Given the description of an element on the screen output the (x, y) to click on. 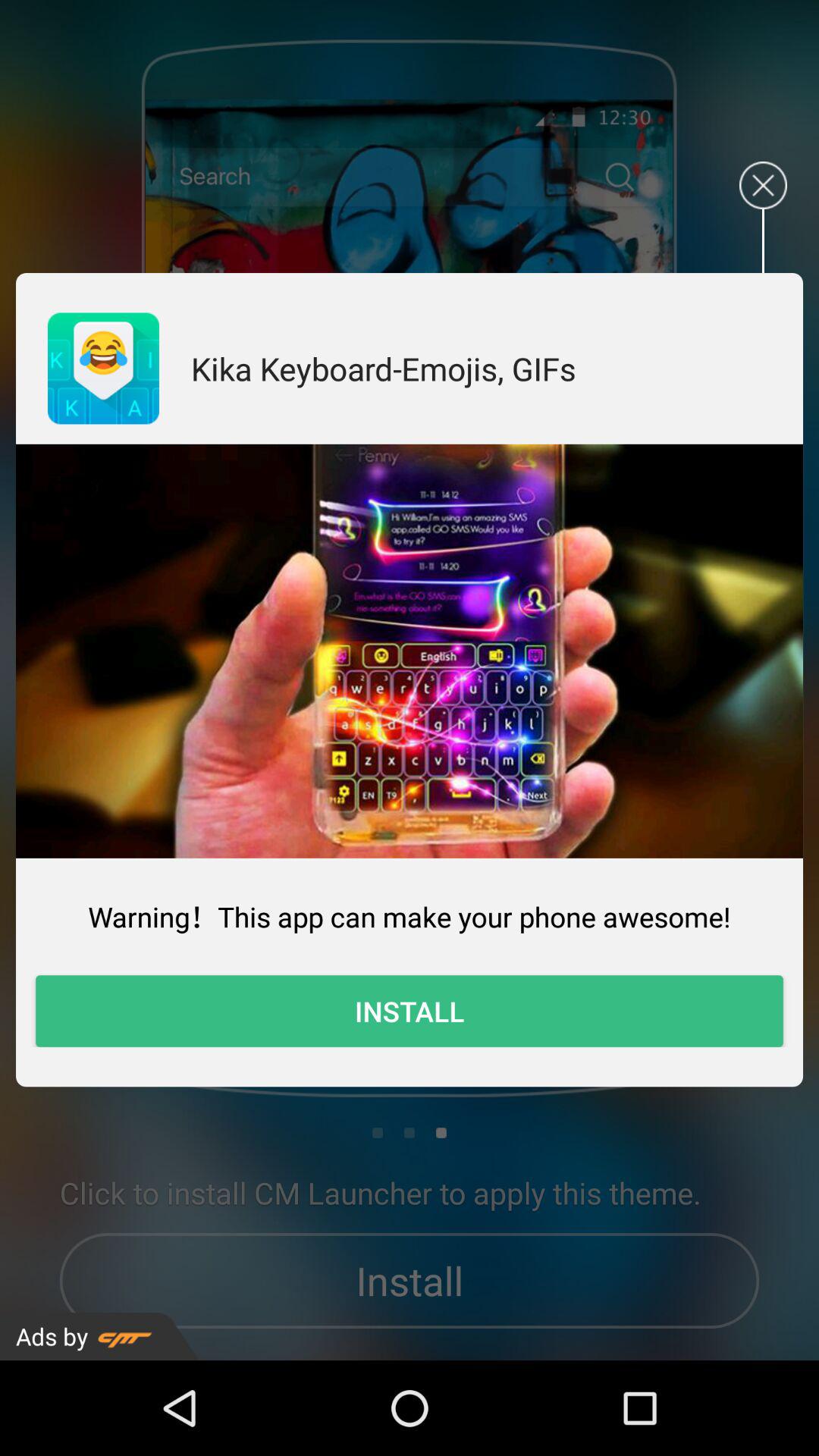
launch item at the bottom (409, 1011)
